Given the description of an element on the screen output the (x, y) to click on. 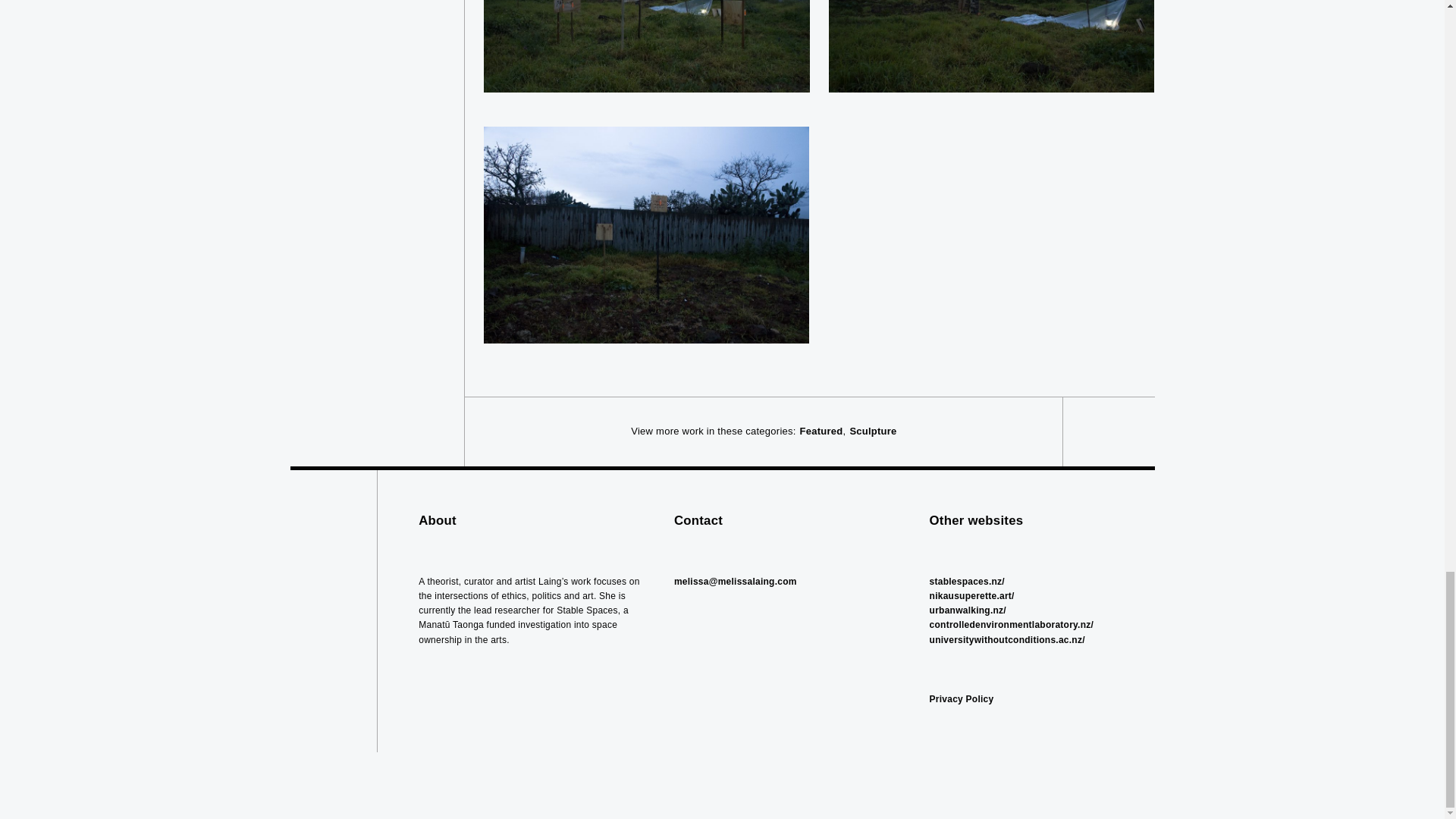
Sculpture (872, 430)
Featured (821, 430)
Privacy Policy (962, 698)
